Given the description of an element on the screen output the (x, y) to click on. 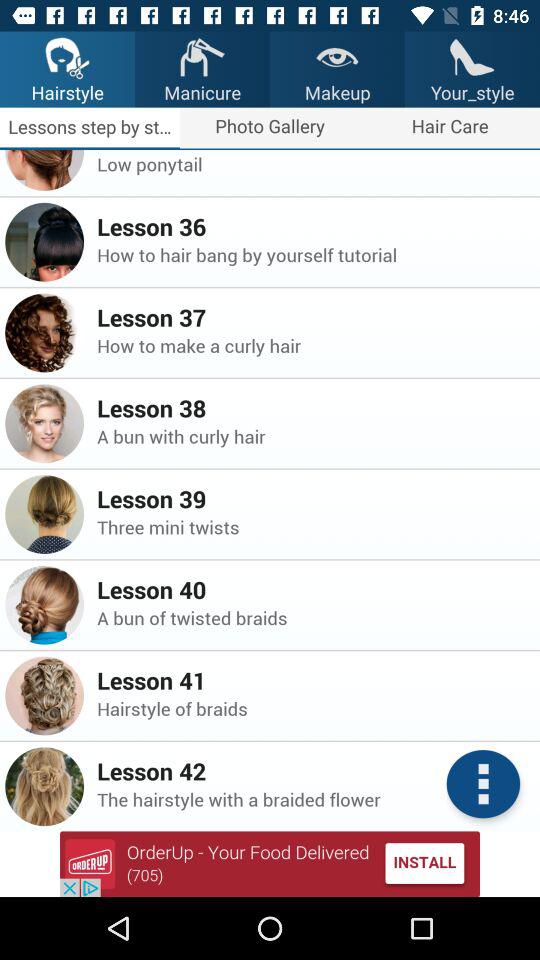
click on the image above hairstyle (66, 56)
click on the third image from the top (44, 332)
select the profile which says lesson 39 (44, 514)
click on the text photo gallery (269, 127)
select the icon which is above the text manicure (201, 56)
click on the image above the text makeup (336, 56)
click on the image above the text yourstyle (471, 56)
